Given the description of an element on the screen output the (x, y) to click on. 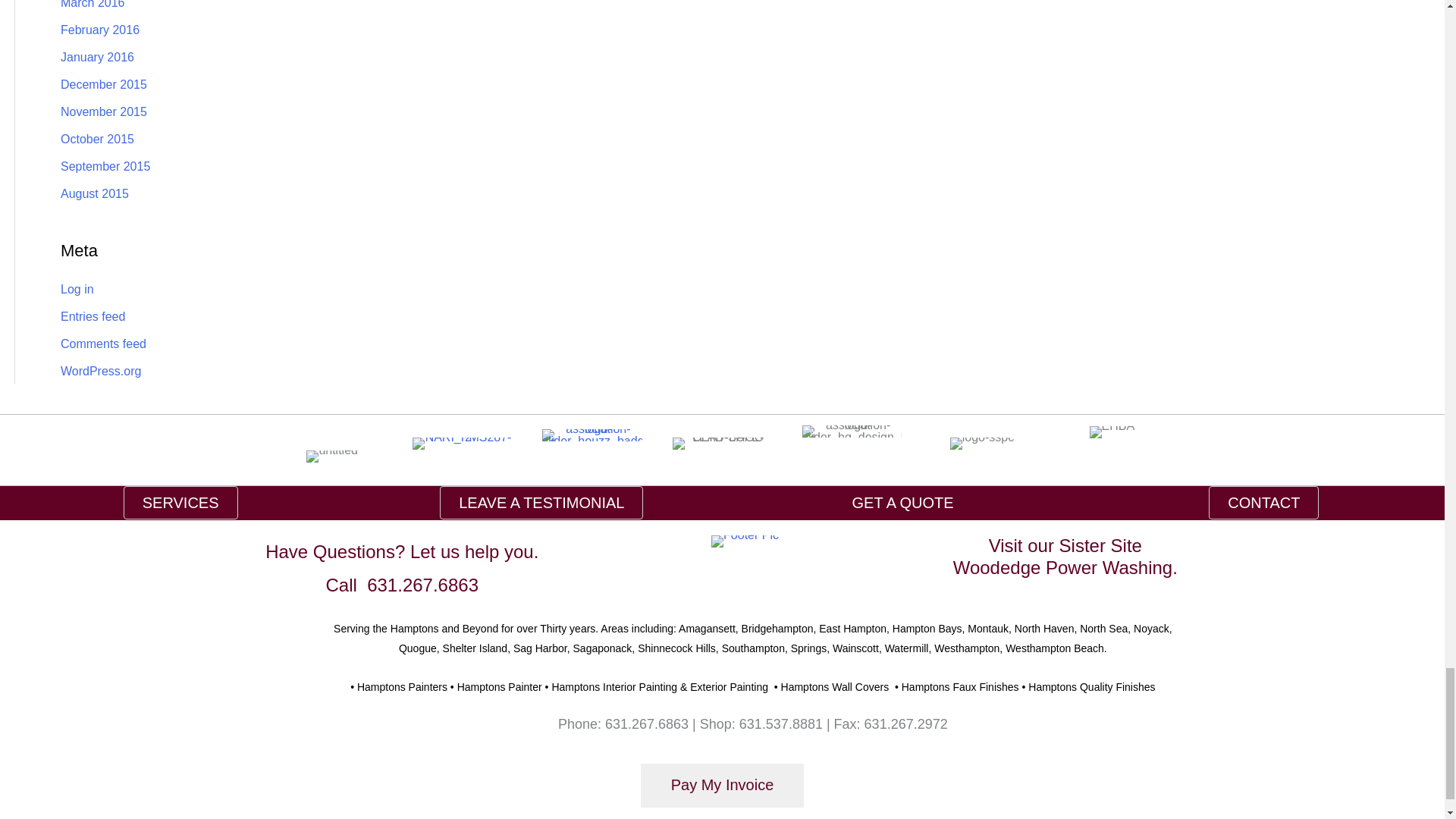
Pay My Invoice (722, 784)
LEAD-SAFE-CERT-LOGO (721, 443)
untitled (331, 456)
